Given the description of an element on the screen output the (x, y) to click on. 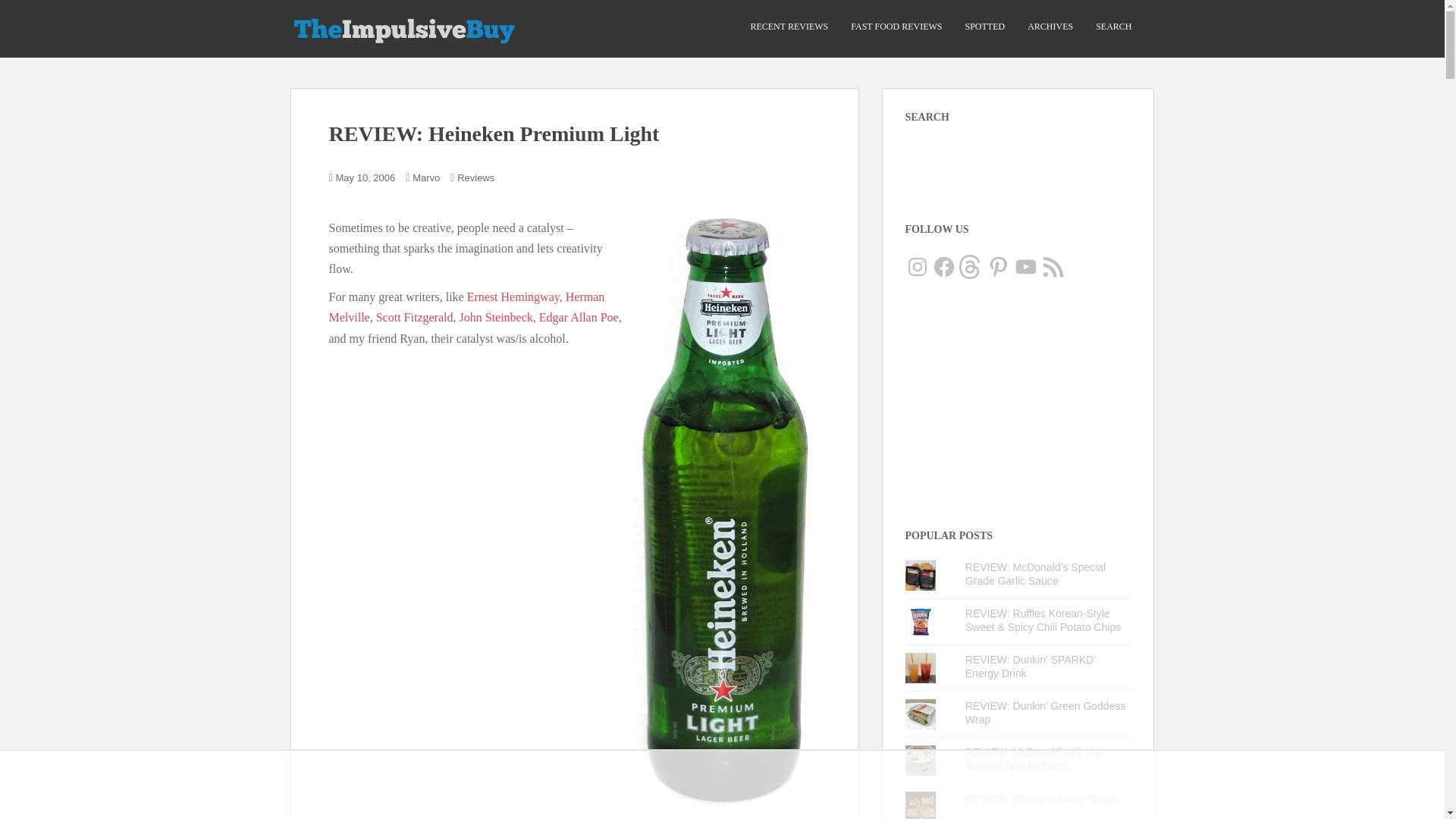
Reviews (476, 177)
Edgar Allan Poe (578, 317)
ARCHIVES (1050, 26)
SEARCH (1113, 26)
SPOTTED (983, 26)
May 10, 2006 (366, 177)
Scott Fitzgerald (413, 317)
Marvo (425, 177)
Ernest Hemingway (513, 296)
RECENT REVIEWS (788, 26)
Herman Melville (467, 306)
John Steinbeck (495, 317)
FAST FOOD REVIEWS (896, 26)
